Given the description of an element on the screen output the (x, y) to click on. 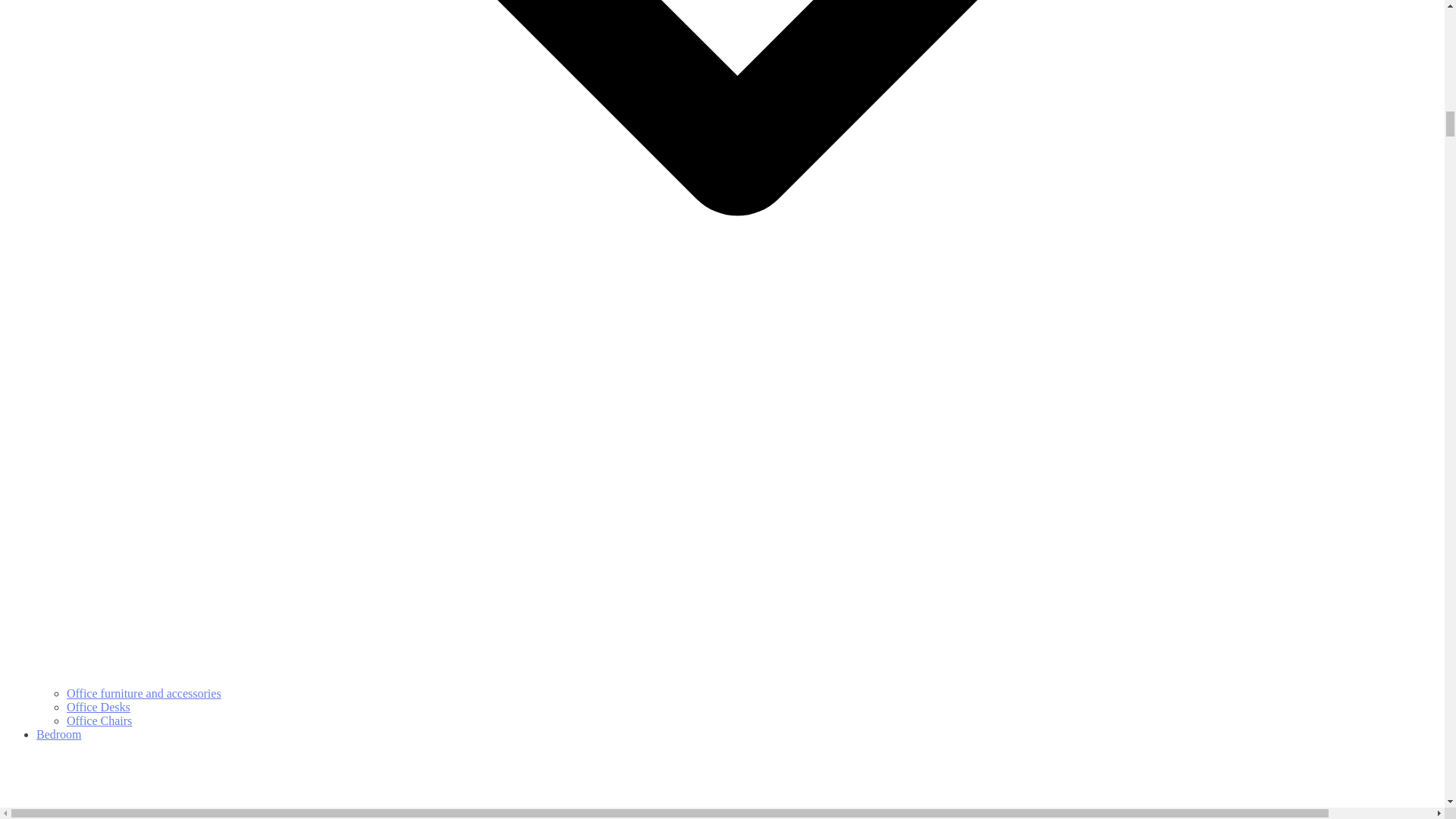
Office furniture and accessories (143, 693)
Office Desks (98, 707)
Office Chairs (99, 720)
Bedroom (737, 773)
